Given the description of an element on the screen output the (x, y) to click on. 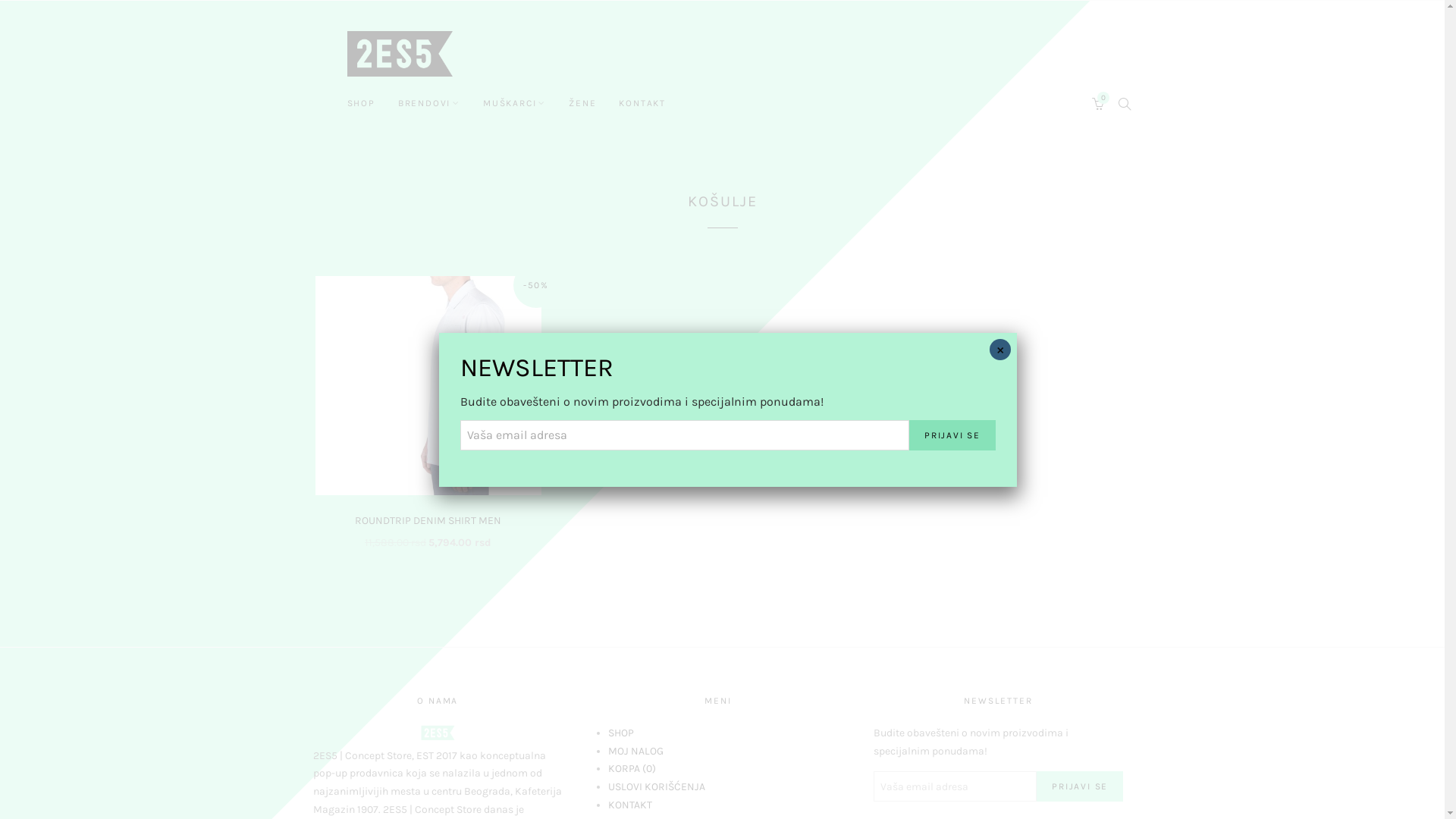
KONTAKT Element type: text (641, 102)
BRENDOVI Element type: text (429, 102)
MOJ NALOG Element type: text (635, 750)
Prijavi se Element type: text (952, 435)
Cart
0 Element type: text (1098, 102)
-50%
ROUNDTRIP DENIM SHIRT MEN
11,588.00 rsd 5,794.00 rsd Element type: text (427, 412)
KONTAKT Element type: text (630, 804)
SHOP Element type: text (620, 732)
Prijavi se Element type: text (1079, 786)
KORPA 0 Element type: text (631, 768)
SHOP Element type: text (361, 102)
SEARCH Element type: text (1124, 102)
